Given the description of an element on the screen output the (x, y) to click on. 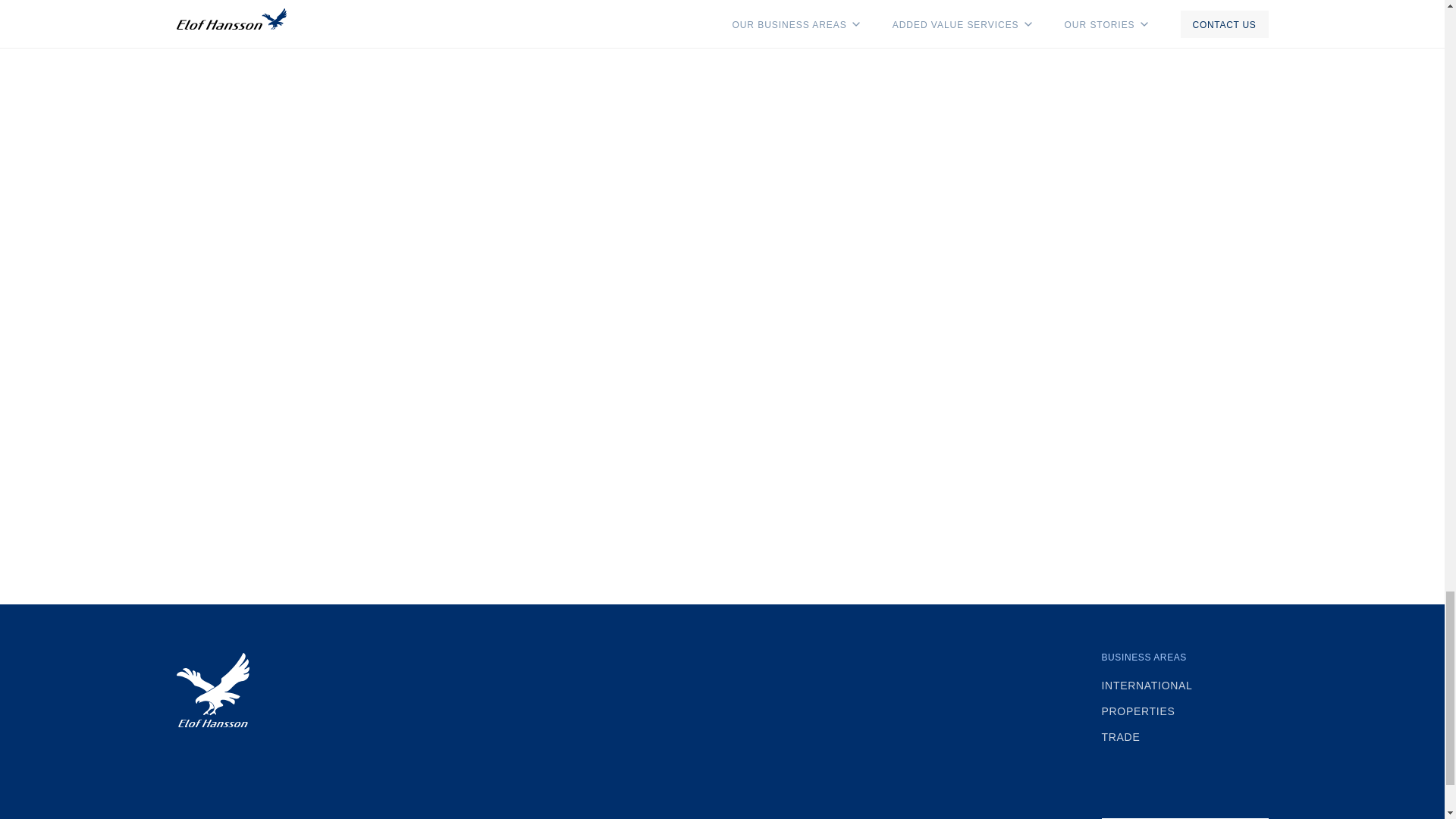
TRADE (1184, 737)
INTERNATIONAL (1184, 685)
PROPERTIES (1184, 710)
